Given the description of an element on the screen output the (x, y) to click on. 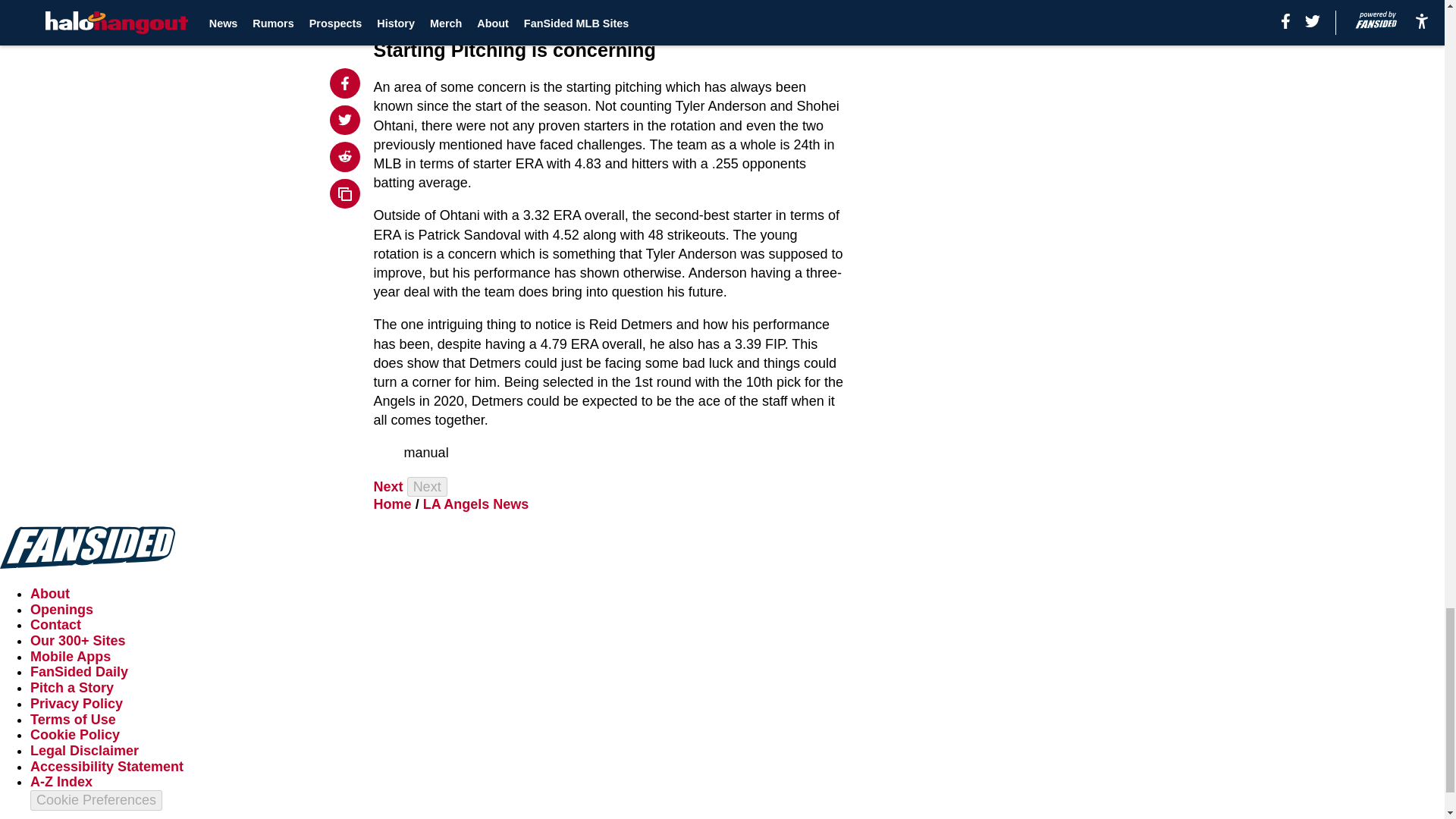
LA Angels News (476, 503)
Home (393, 503)
Next (388, 486)
Next (426, 486)
